Given the description of an element on the screen output the (x, y) to click on. 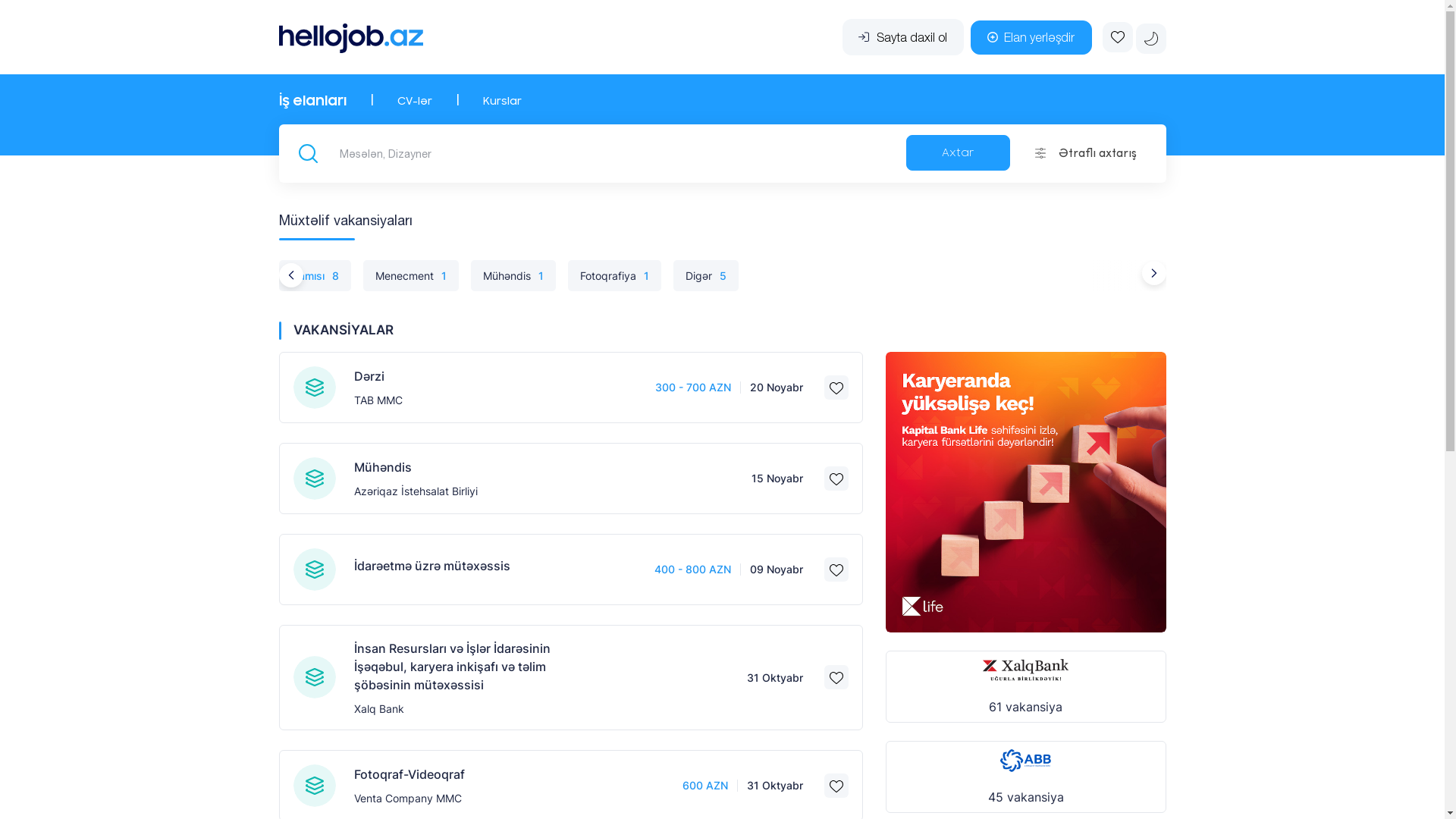
Menecment
1 Element type: text (410, 275)
Kurslar Element type: text (501, 101)
Fotoqrafiya
1 Element type: text (613, 275)
45 vakansiya Element type: text (1025, 776)
Axtar Element type: text (958, 152)
61 vakansiya Element type: text (1025, 686)
Sayta daxil ol Element type: text (902, 36)
